Given the description of an element on the screen output the (x, y) to click on. 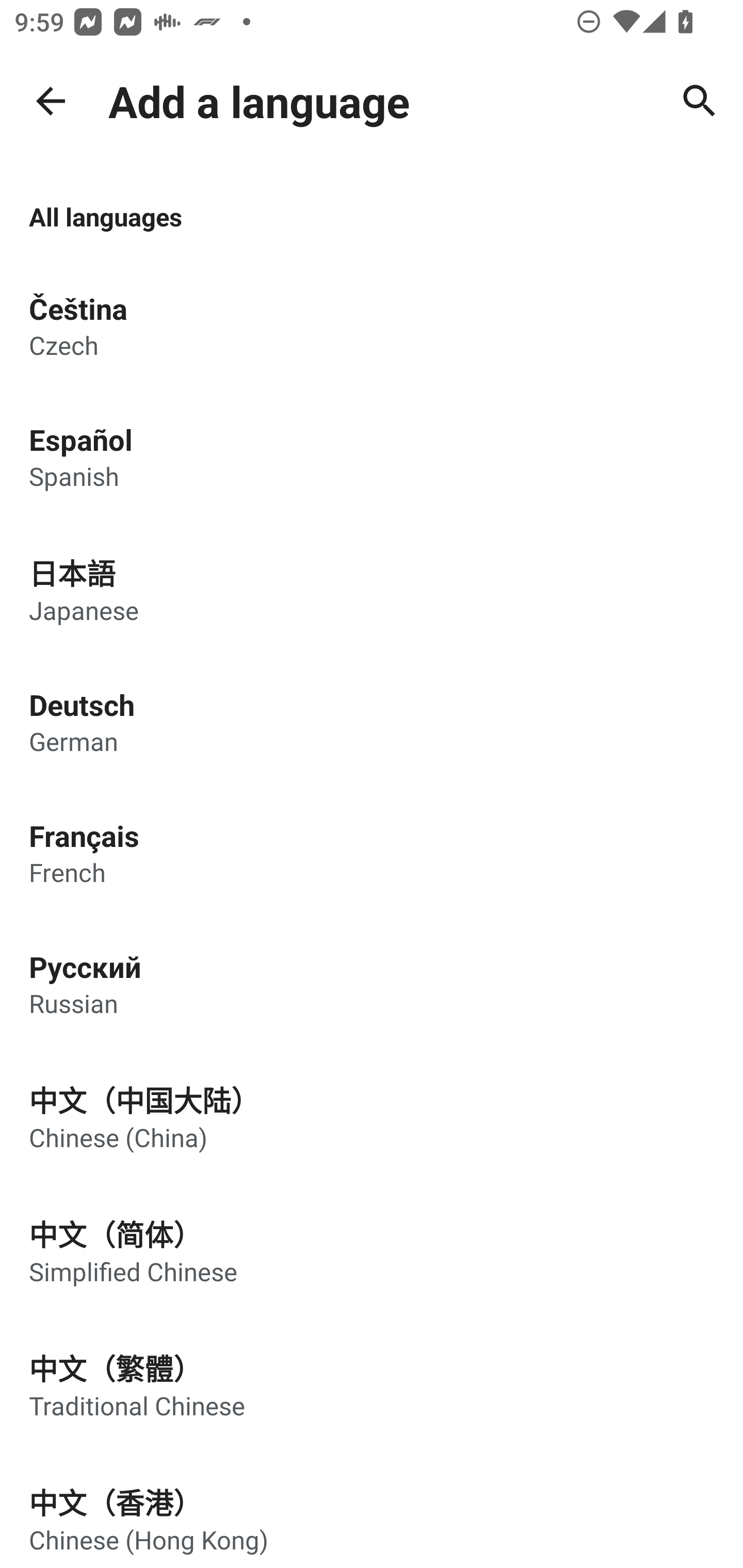
Navigate up (50, 101)
Search for a language (699, 101)
Čeština Czech (371, 325)
Español Spanish (371, 456)
日本語 Japanese (371, 588)
Deutsch German (371, 721)
Français French (371, 852)
Русский Russian (371, 983)
中文（中国大陆） Chinese (China) (371, 1115)
中文（简体） Simplified Chinese (371, 1250)
中文（繁體） Traditional Chinese (371, 1384)
中文（香港） Chinese (Hong Kong) (371, 1509)
